Given the description of an element on the screen output the (x, y) to click on. 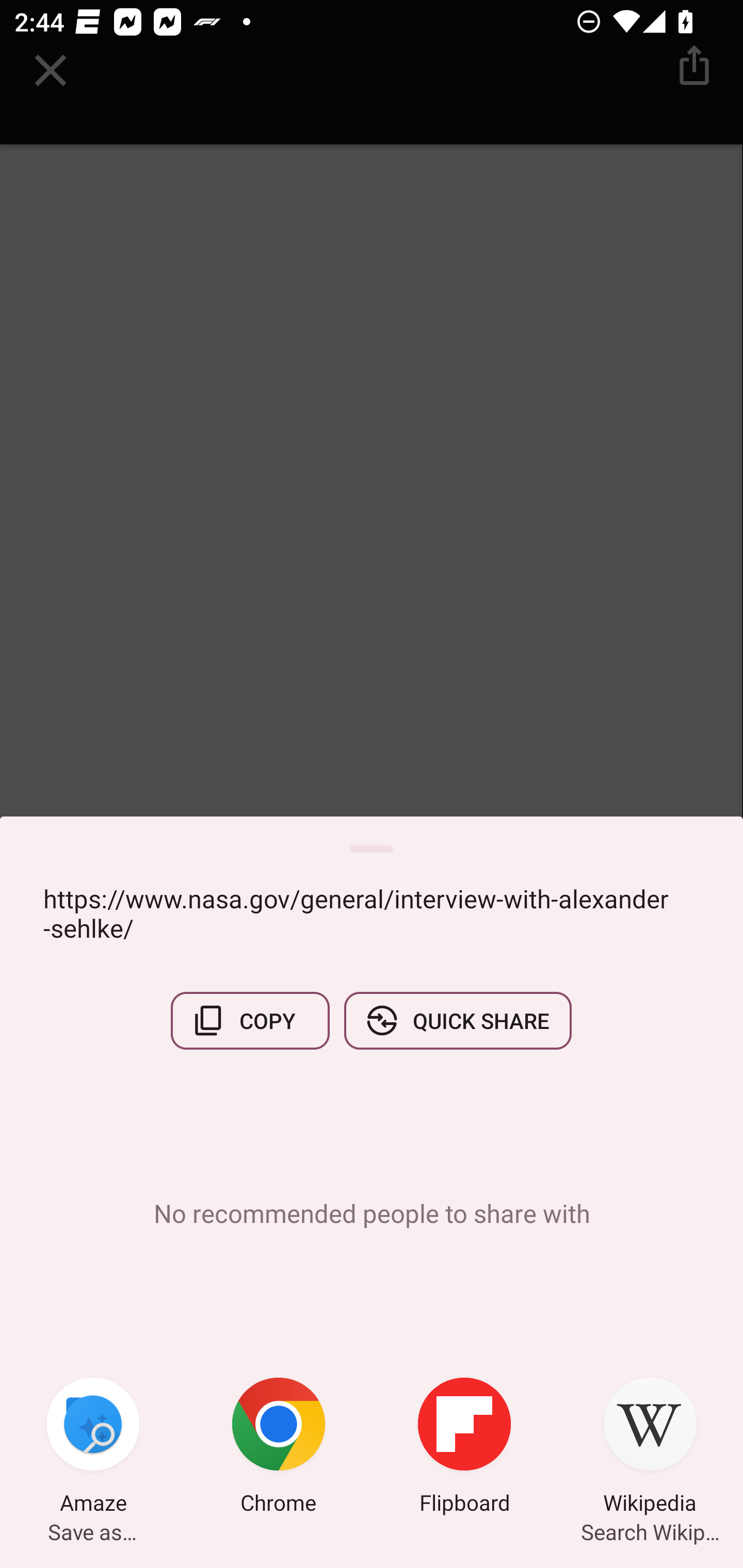
COPY (249, 1020)
QUICK SHARE (457, 1020)
Amaze Save as… (92, 1448)
Chrome (278, 1448)
Flipboard (464, 1448)
Wikipedia Search Wikipedia (650, 1448)
